Given the description of an element on the screen output the (x, y) to click on. 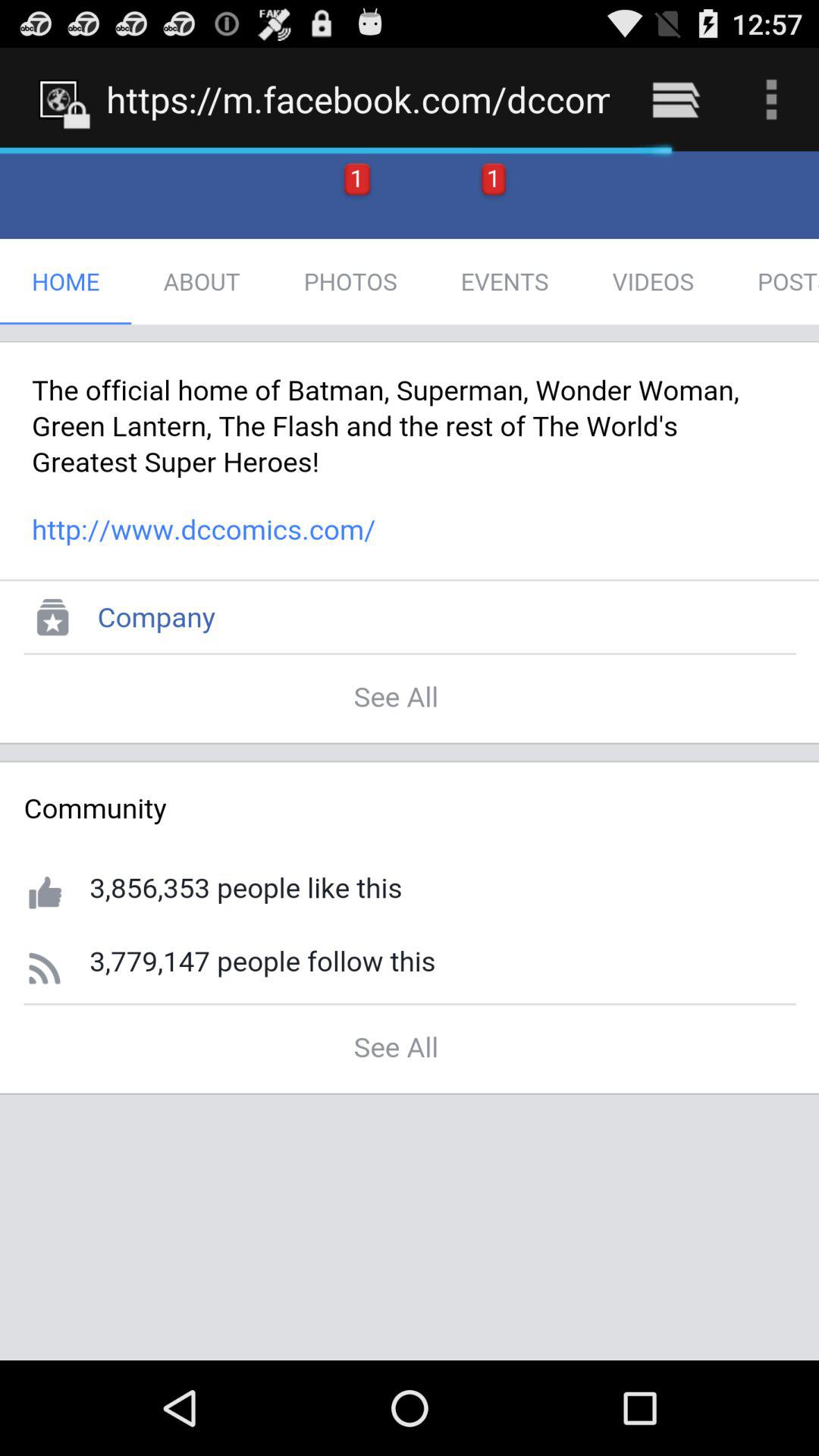
swipe until https m facebook item (357, 99)
